Given the description of an element on the screen output the (x, y) to click on. 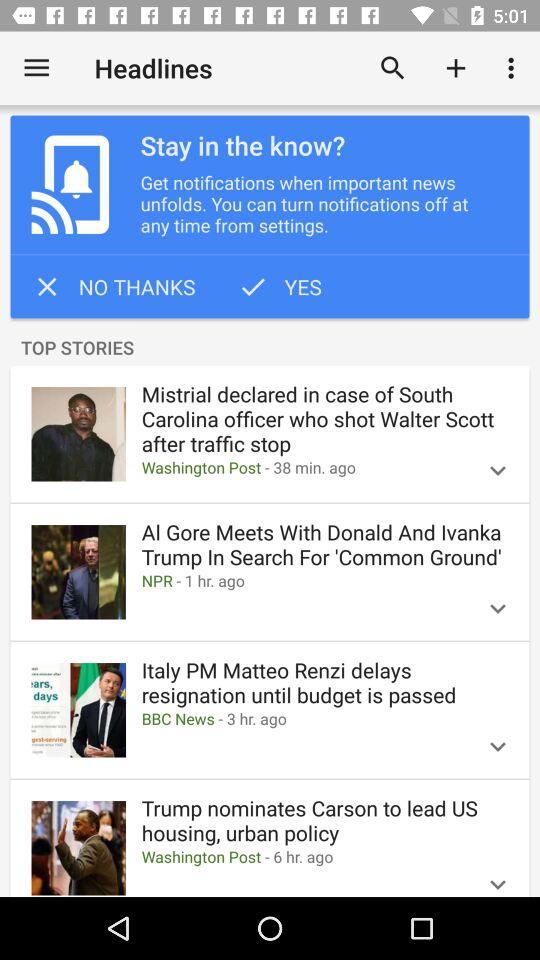
click item below italy pm matteo item (301, 718)
